Given the description of an element on the screen output the (x, y) to click on. 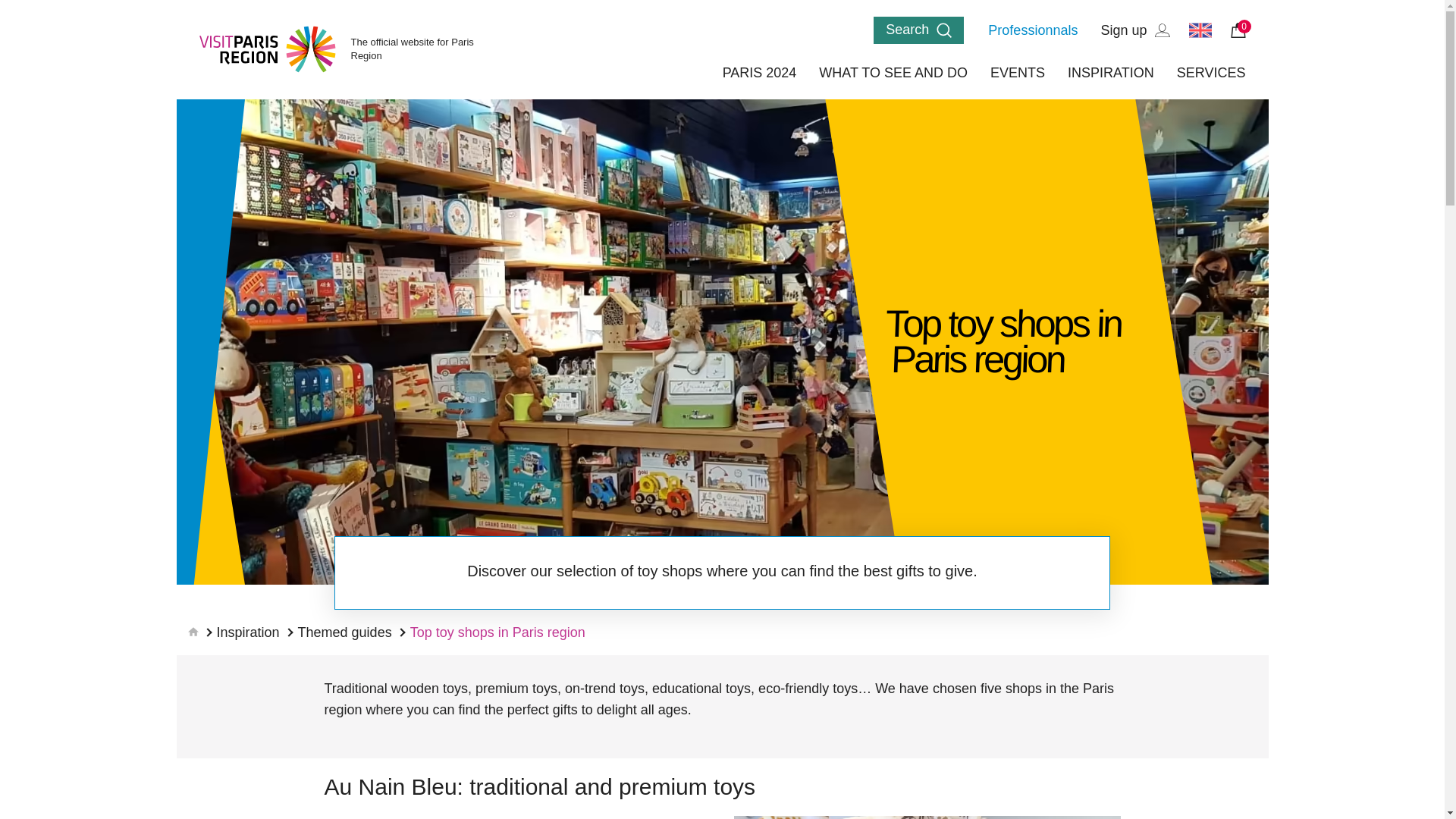
Professionnals (1032, 29)
WHAT TO SEE AND DO (893, 73)
Sign up (1134, 30)
Search (918, 30)
PARIS 2024 (759, 73)
INSPIRATION (1110, 73)
EVENTS (1017, 73)
